Given the description of an element on the screen output the (x, y) to click on. 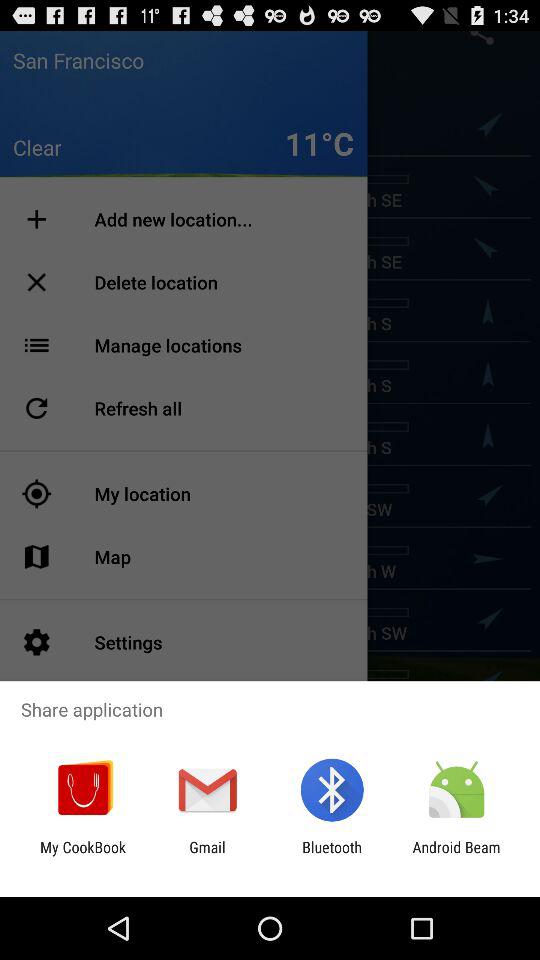
select the icon to the right of the my cookbook item (207, 856)
